Given the description of an element on the screen output the (x, y) to click on. 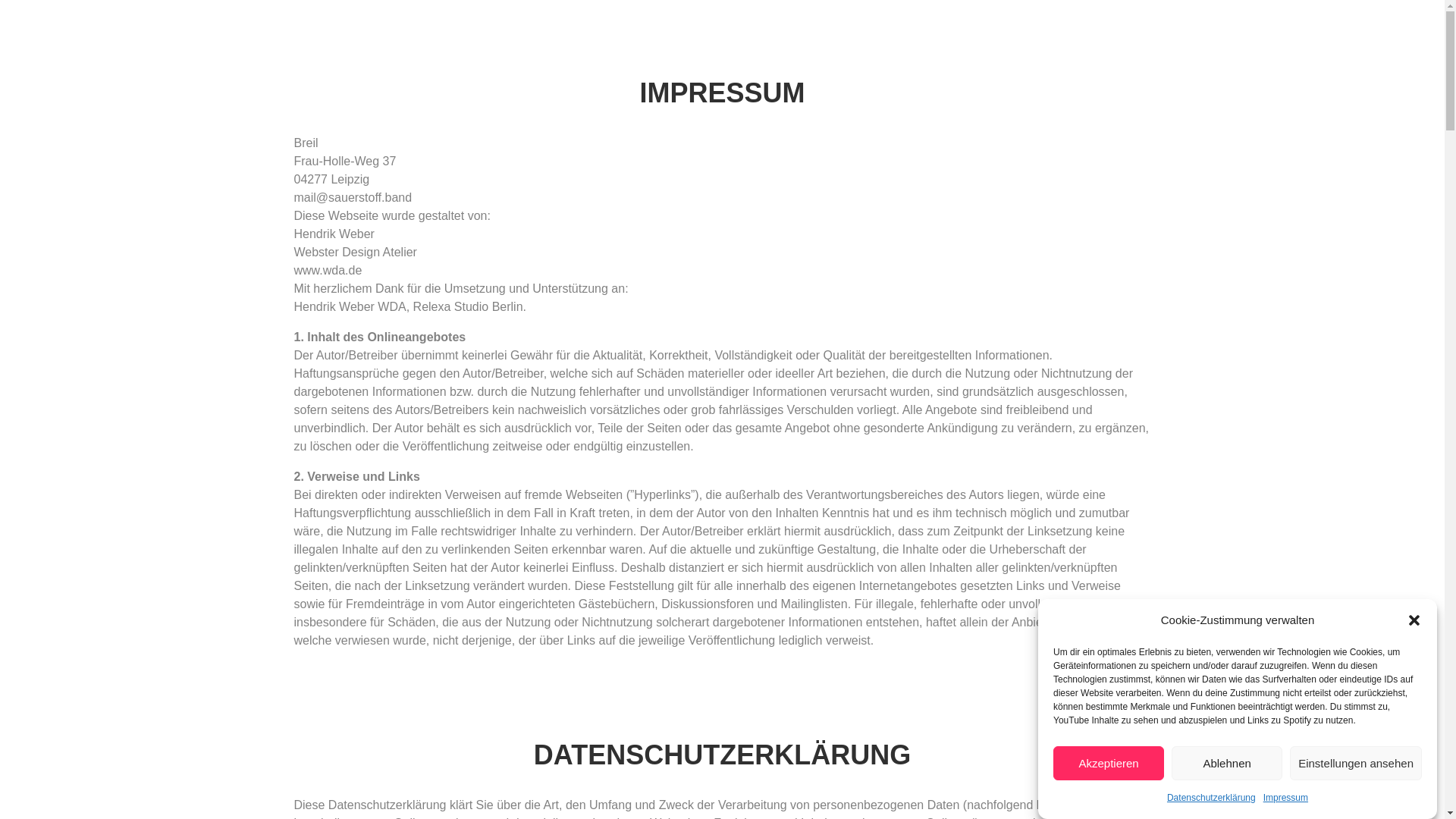
Akzeptieren Element type: text (1108, 763)
Impressum Element type: text (1285, 797)
Einstellungen ansehen Element type: text (1355, 763)
Ablehnen Element type: text (1226, 763)
